Given the description of an element on the screen output the (x, y) to click on. 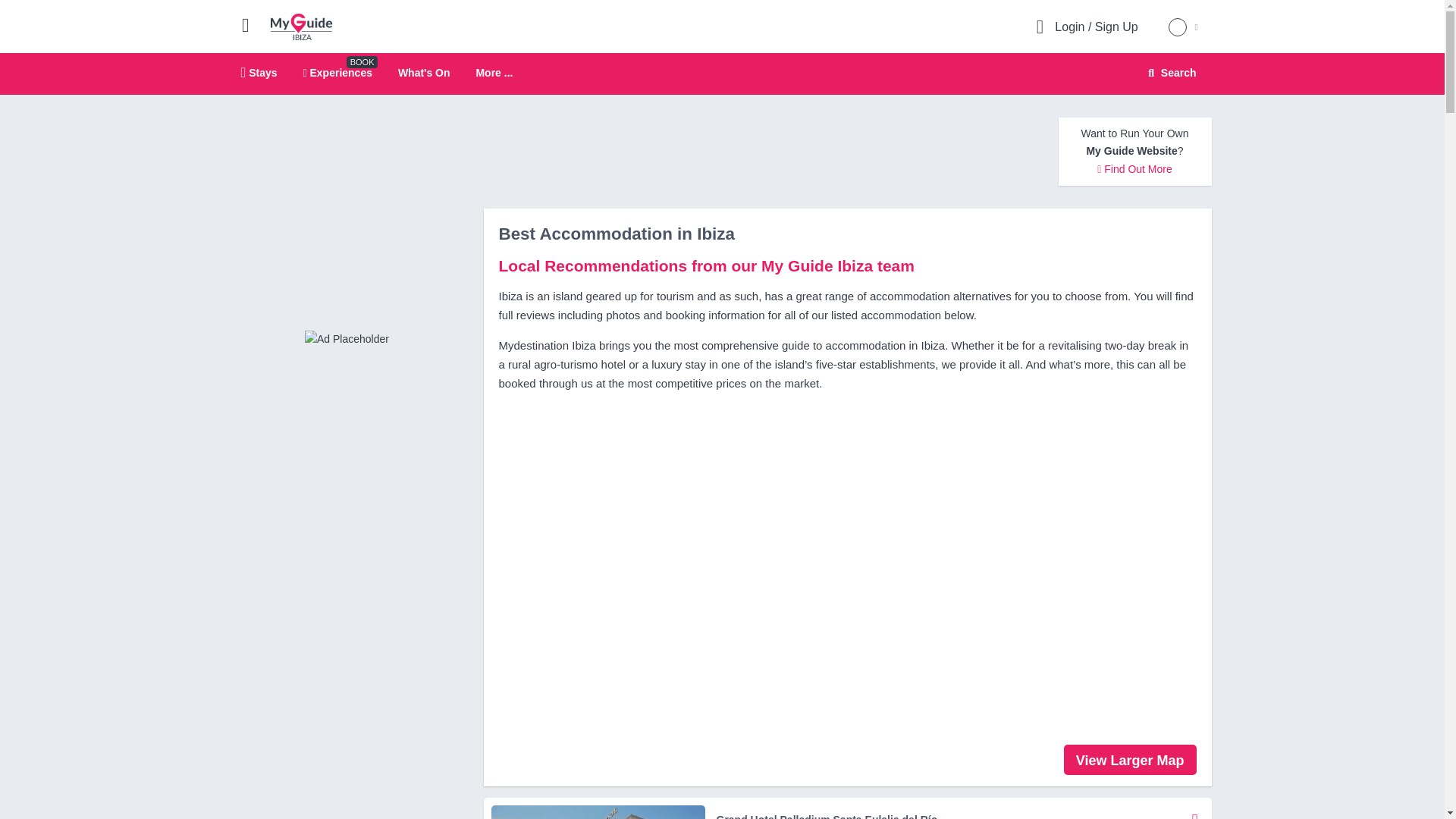
What's On (423, 72)
Experiences (337, 72)
View All Experiences (346, 337)
Stays (259, 72)
My Guide Ibiza (721, 74)
Search Website (300, 25)
More ... (1170, 73)
Add to My Guide (494, 72)
Search (1195, 812)
Add to My Guide (1169, 72)
Larger Map for Company: Accommodation  (1193, 812)
